Given the description of an element on the screen output the (x, y) to click on. 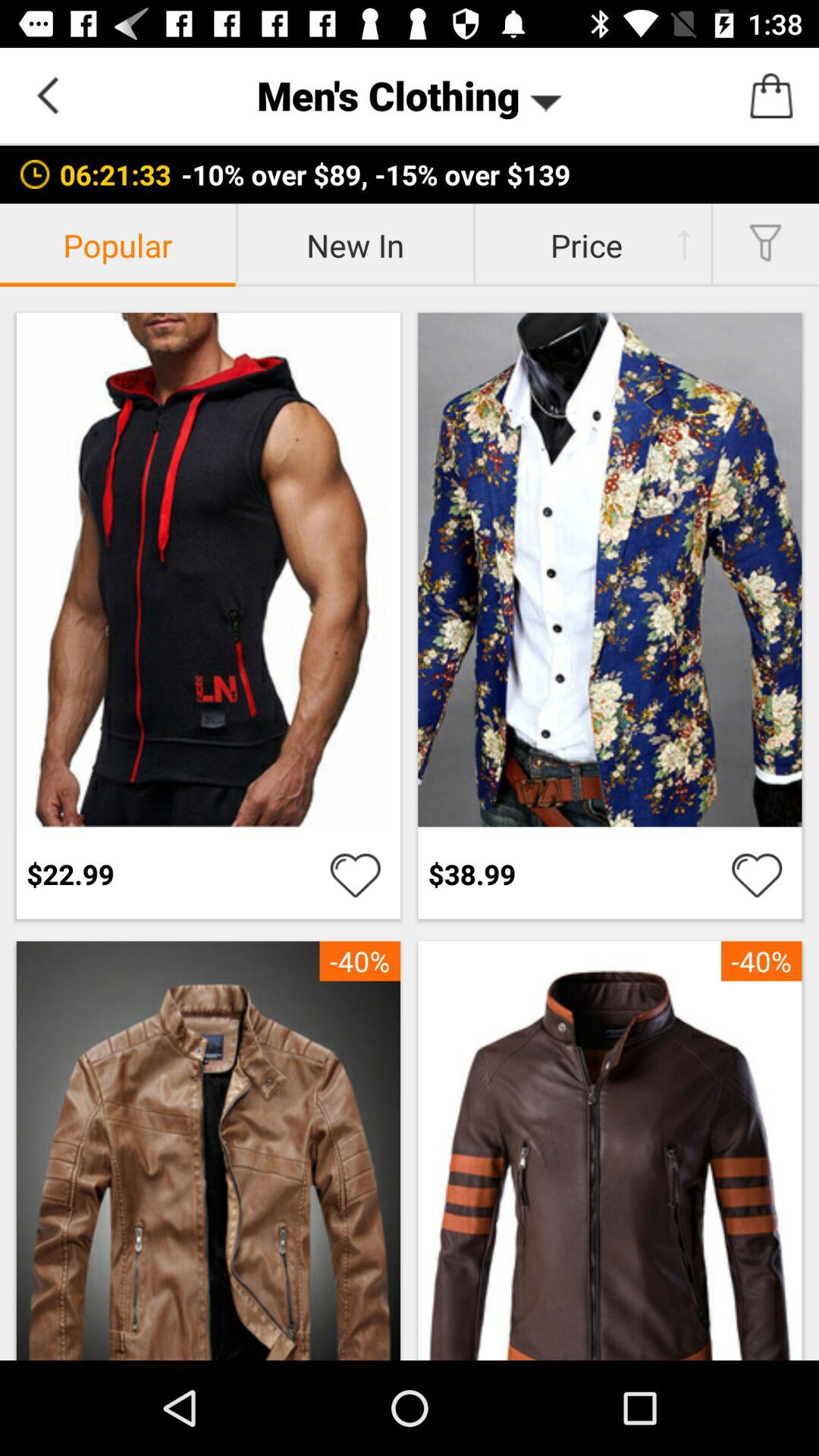
love this item (756, 874)
